Given the description of an element on the screen output the (x, y) to click on. 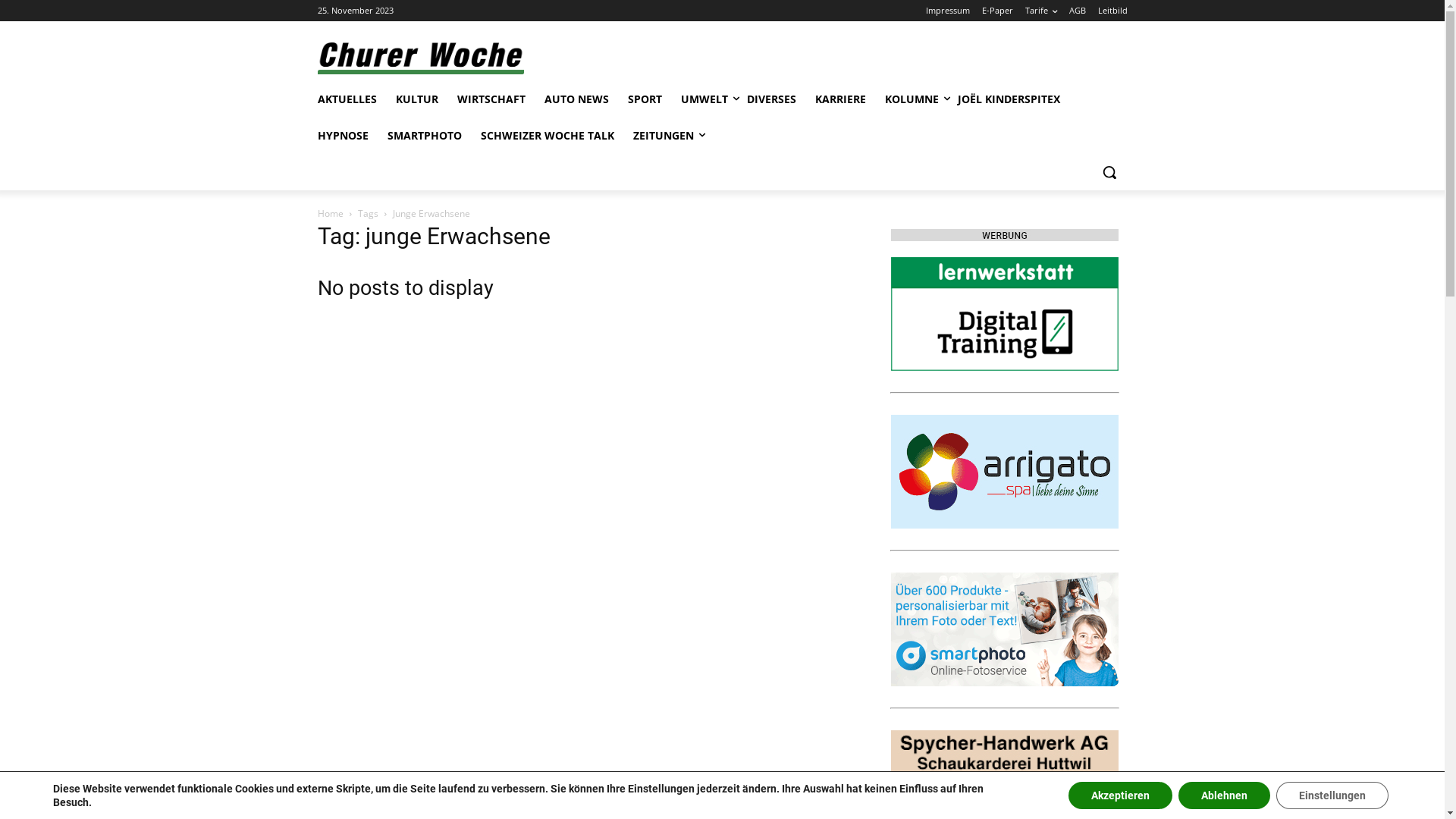
AKTUELLES Element type: text (346, 99)
Arrigato GmbH Element type: hover (1003, 471)
Leitbild Element type: text (1112, 10)
SCHWEIZER WOCHE TALK Element type: text (547, 135)
Ablehnen Element type: text (1224, 795)
KOLUMNE Element type: text (911, 99)
AGB Element type: text (1077, 10)
Impressum Element type: text (947, 10)
DIVERSES Element type: text (770, 99)
Tarife Element type: text (1041, 10)
ZEITUNGEN Element type: text (662, 135)
Akzeptieren Element type: text (1120, 795)
E-Paper Element type: text (996, 10)
WIRTSCHAFT Element type: text (490, 99)
AUTO NEWS Element type: text (576, 99)
KARRIERE Element type: text (839, 99)
SMARTPHOTO Element type: text (423, 135)
smartphoto Element type: hover (1003, 629)
UMWELT Element type: text (704, 99)
Einstellungen Element type: text (1332, 795)
KULTUR Element type: text (416, 99)
HYPNOSE Element type: text (341, 135)
SPORT Element type: text (644, 99)
Home Element type: text (329, 213)
Lernwerkstatt Element type: hover (1003, 313)
